Given the description of an element on the screen output the (x, y) to click on. 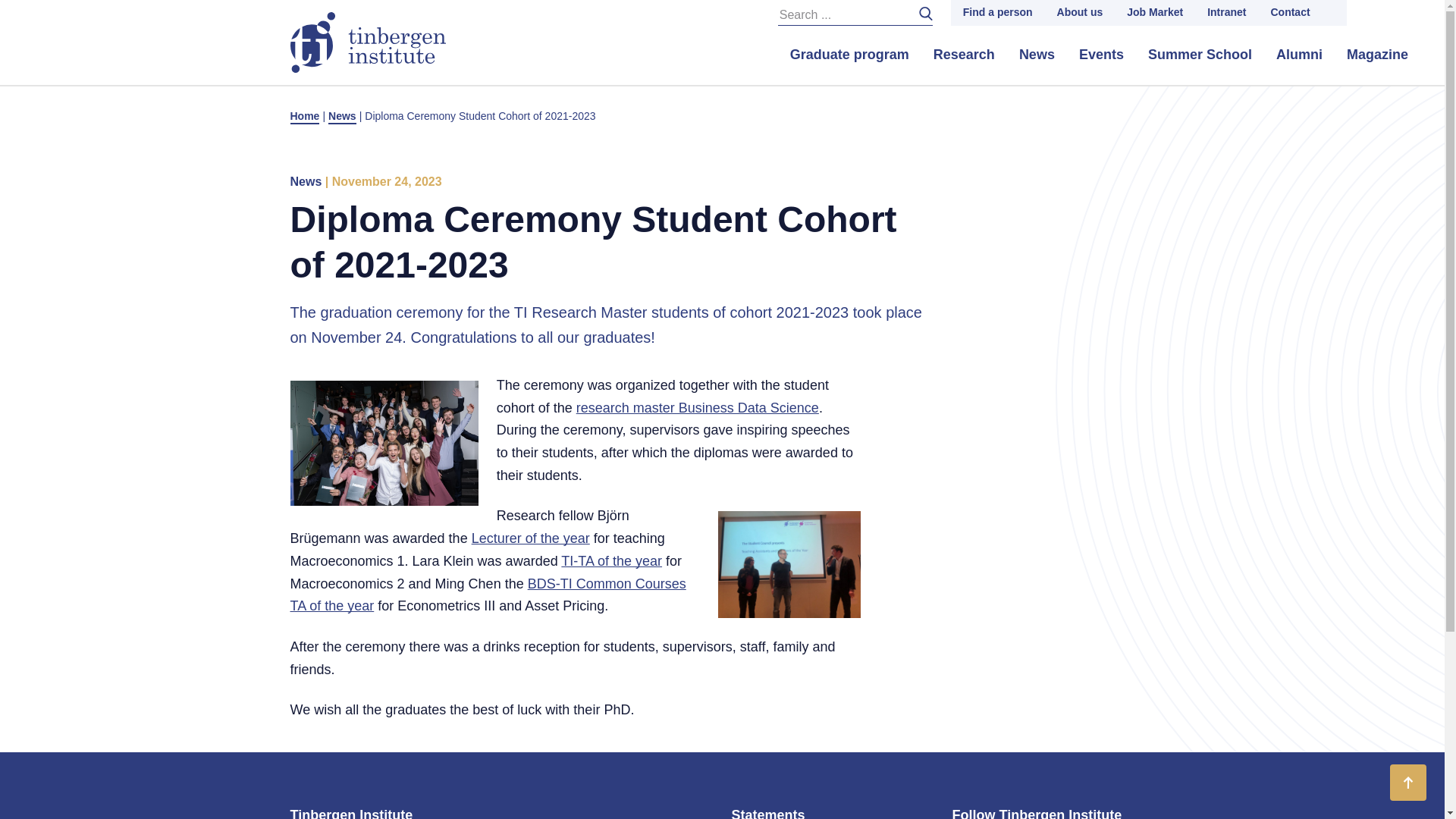
Find a person (997, 12)
Events (1101, 55)
News (1037, 55)
Research (964, 55)
Job Market (1155, 12)
Magazine (1378, 55)
Summer School (1199, 55)
Contact (1289, 12)
About us (1080, 12)
Intranet (1226, 12)
Graduate program (849, 55)
Alumni (1299, 55)
